Given the description of an element on the screen output the (x, y) to click on. 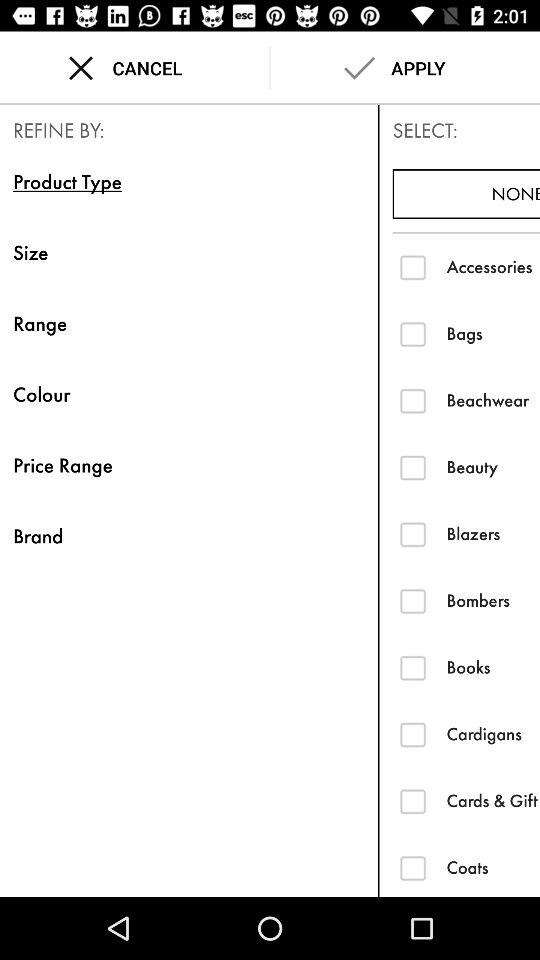
toggle books category (412, 667)
